Given the description of an element on the screen output the (x, y) to click on. 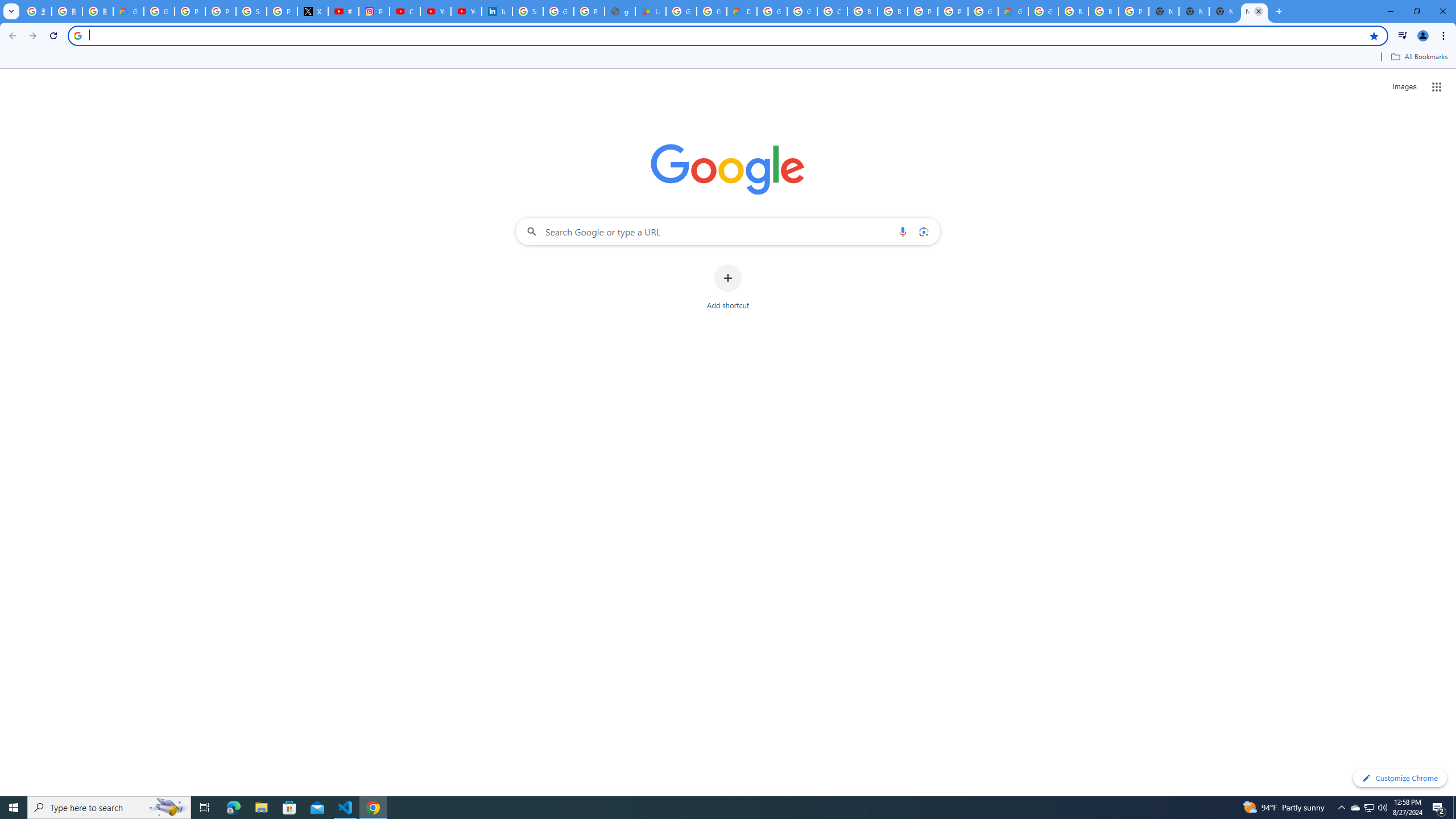
Google Workspace - Specific Terms (711, 11)
Sign in - Google Accounts (251, 11)
Google Cloud Platform (982, 11)
